Given the description of an element on the screen output the (x, y) to click on. 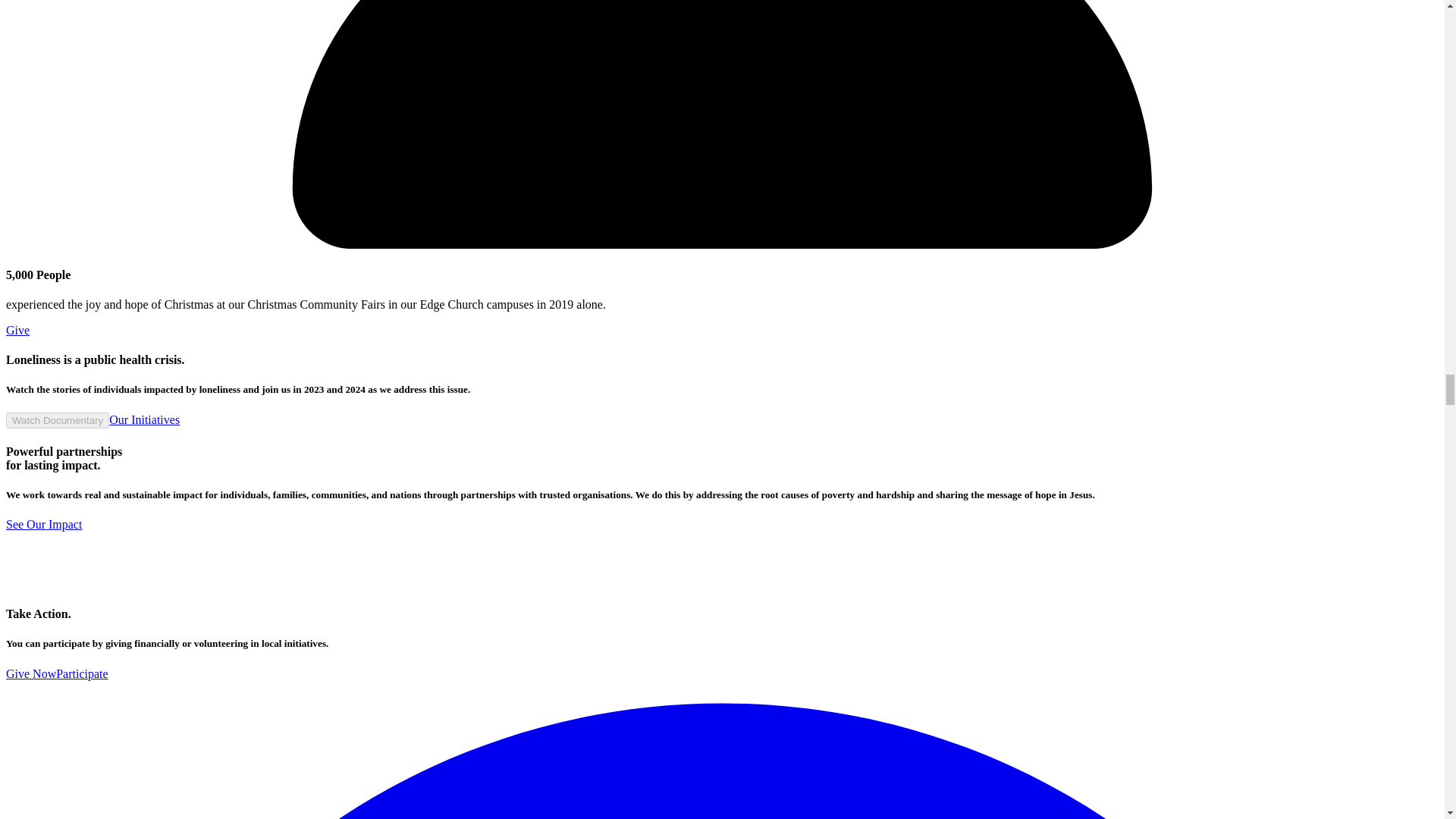
Our Initiatives (144, 419)
Give (17, 329)
See Our Impact (43, 523)
Give Now (30, 673)
Watch Documentary (57, 420)
Participate (81, 673)
